Given the description of an element on the screen output the (x, y) to click on. 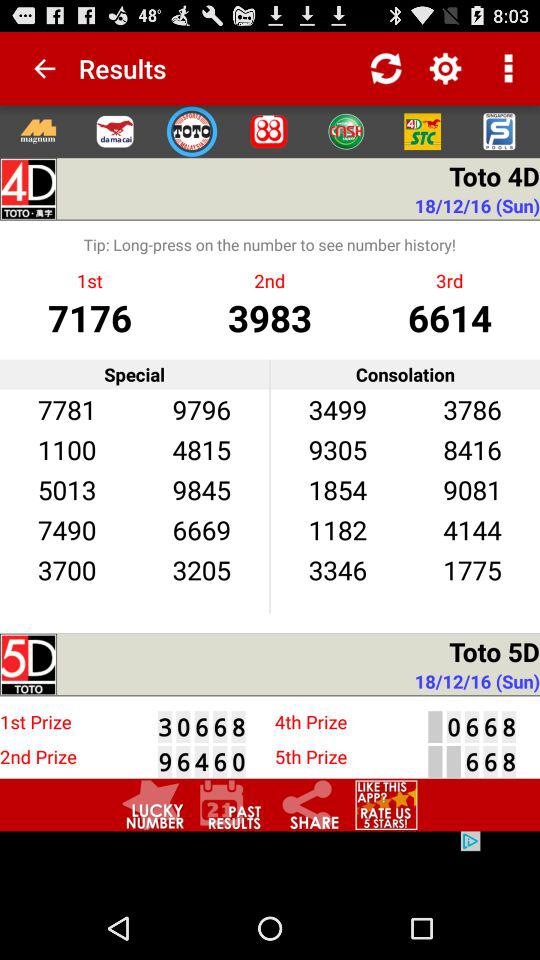
see past results (231, 804)
